Given the description of an element on the screen output the (x, y) to click on. 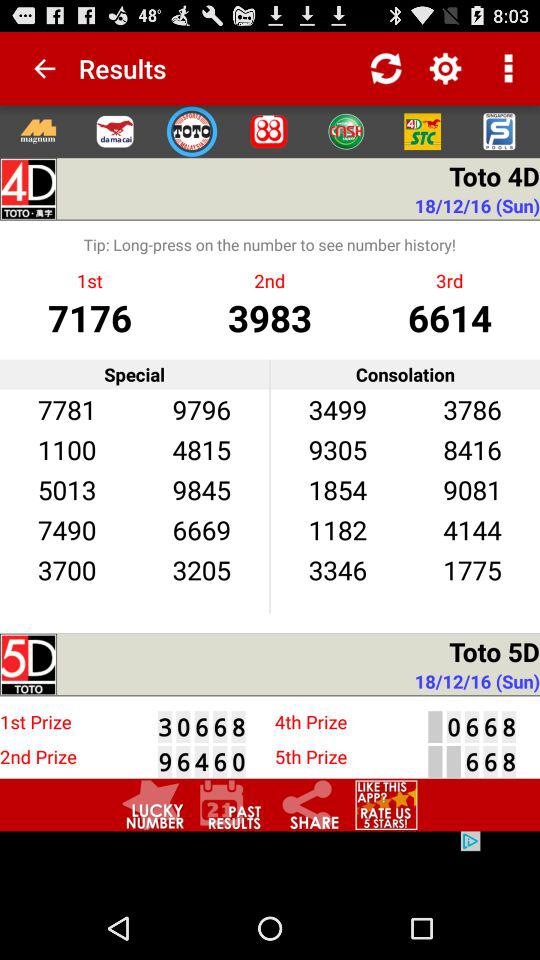
see past results (231, 804)
